Given the description of an element on the screen output the (x, y) to click on. 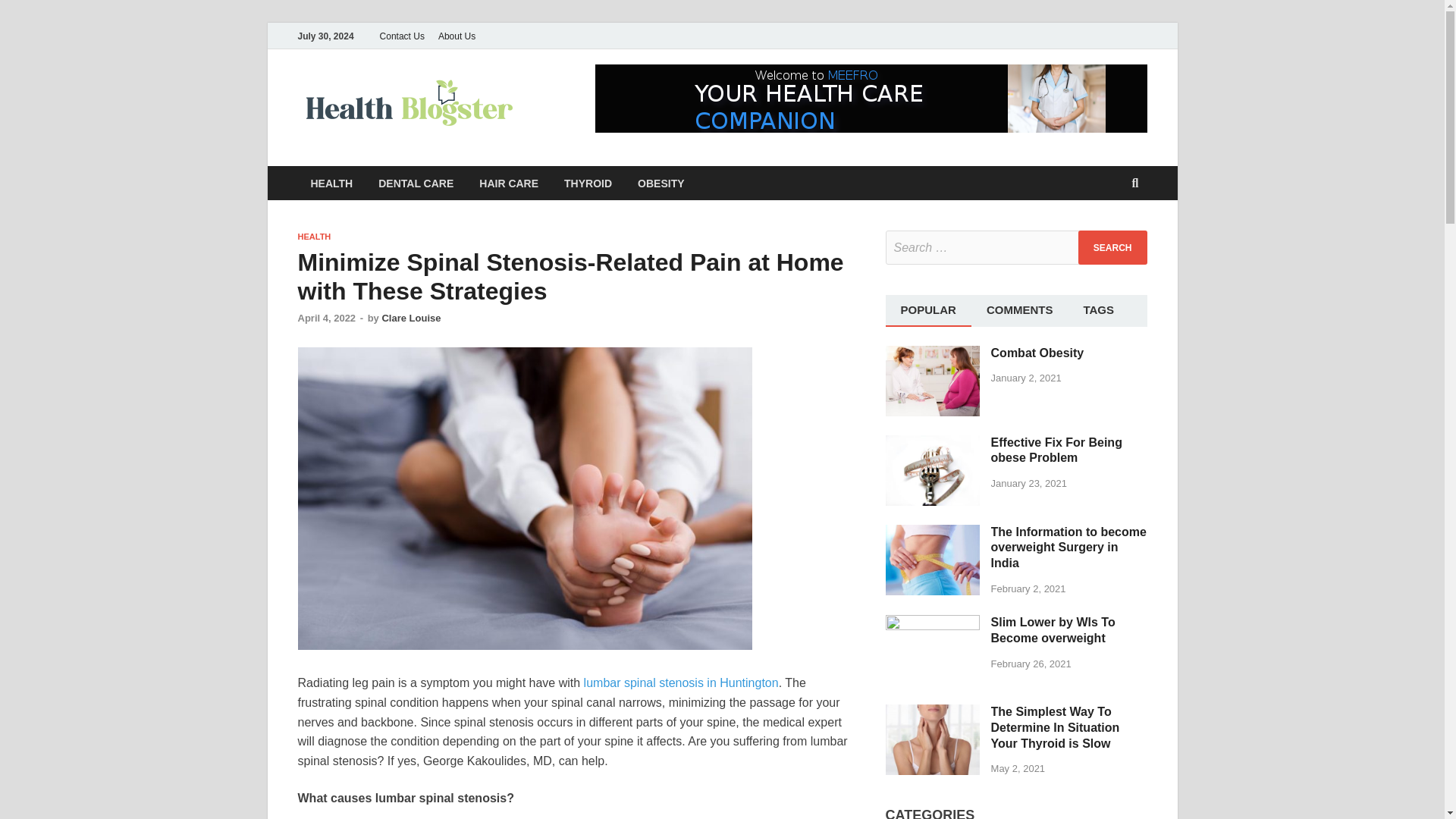
POPULAR (928, 309)
DENTAL CARE (415, 182)
Search (1112, 247)
Combat Obesity (932, 353)
Search (1112, 247)
HEALTH (331, 182)
HAIR CARE (508, 182)
Health Blogster (629, 100)
Combat Obesity (1037, 351)
Search (1112, 247)
Clare Louise (411, 317)
TAGS (1098, 309)
The Information to become overweight Surgery in India (932, 532)
Contact Us (401, 35)
Effective Fix For Being obese Problem (932, 442)
